Given the description of an element on the screen output the (x, y) to click on. 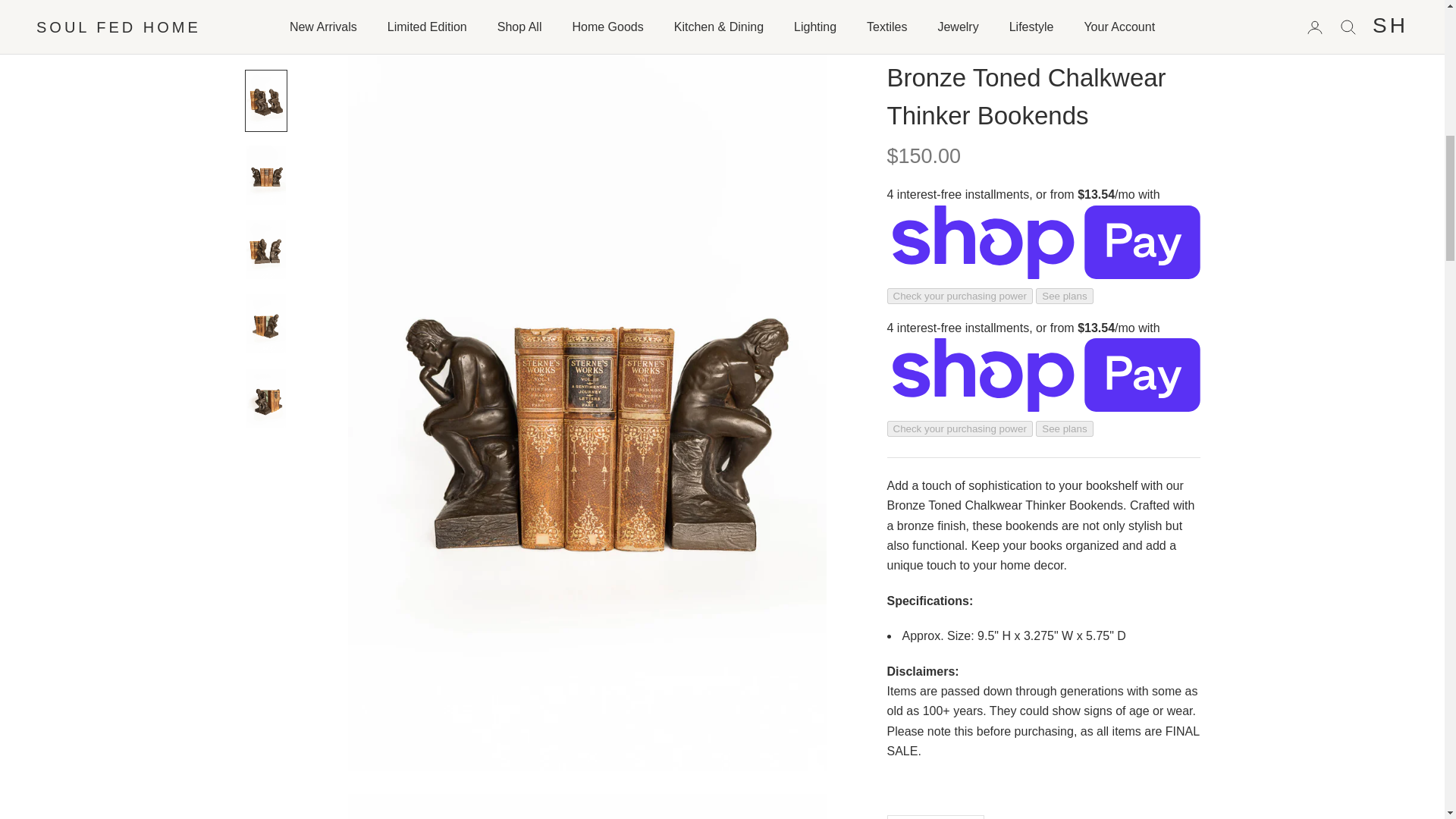
1 (935, 86)
